Given the description of an element on the screen output the (x, y) to click on. 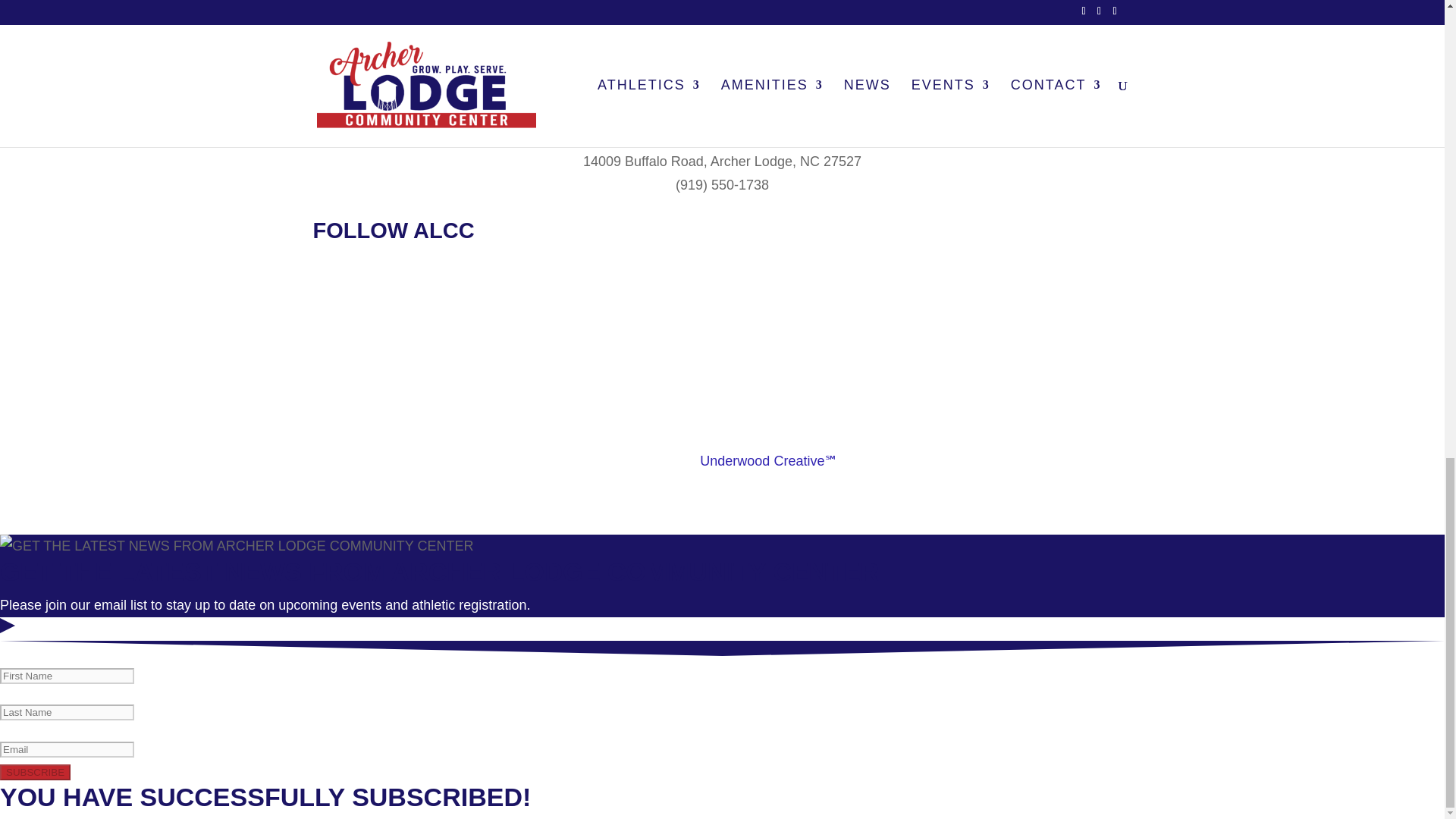
Follow on Facebook (691, 285)
Follow on X (721, 285)
SUBSCRIBE (34, 772)
Follow on Instagram (751, 285)
